Given the description of an element on the screen output the (x, y) to click on. 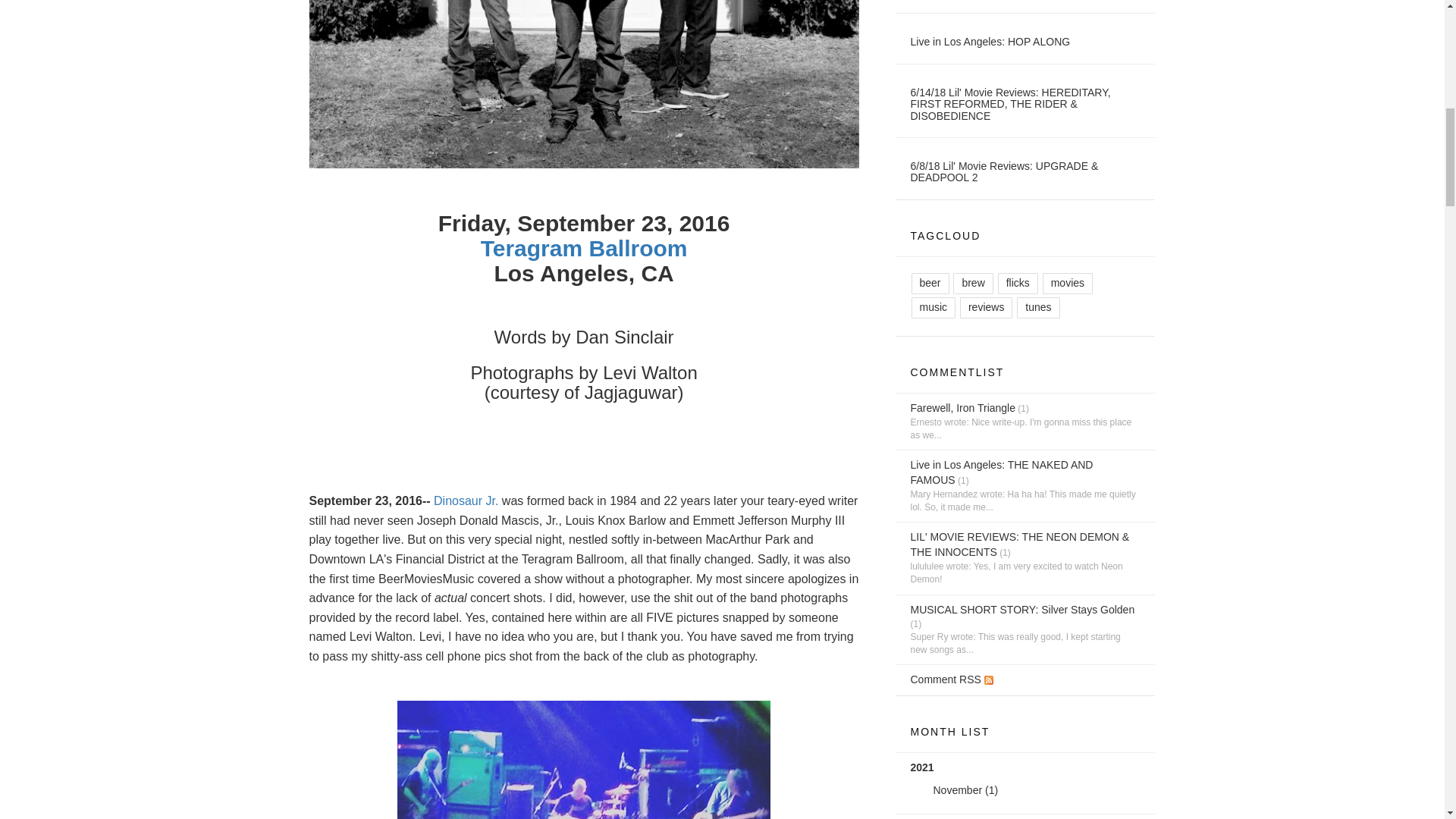
Dinosaur Jr. (467, 500)
Teragram Ballroom (583, 248)
